Given the description of an element on the screen output the (x, y) to click on. 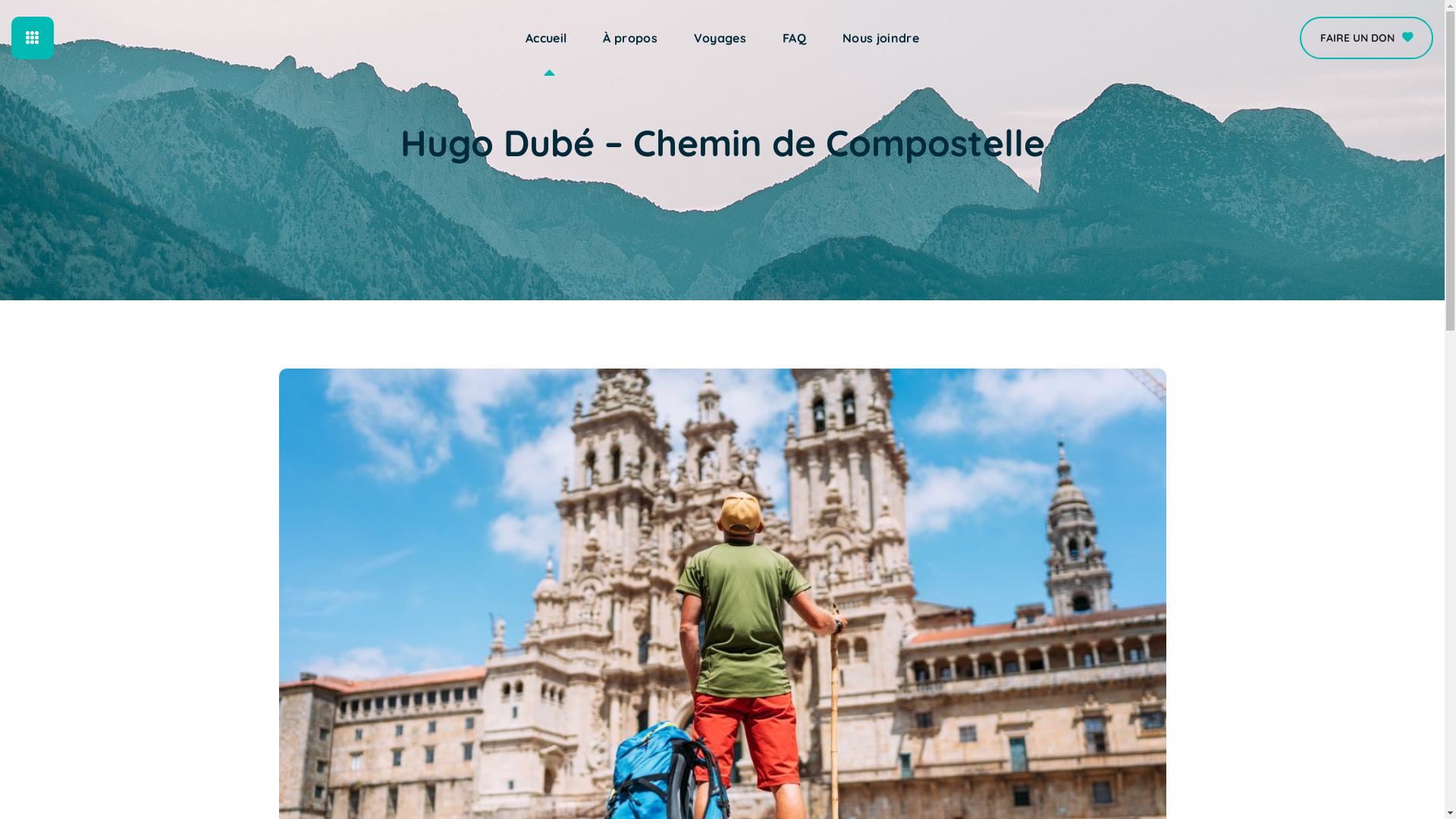
Accueil Element type: text (545, 37)
Voyages Element type: text (719, 37)
FAQ Element type: text (794, 37)
FAIRE UN DON Element type: text (1366, 37)
Nous joindre Element type: text (880, 37)
